Given the description of an element on the screen output the (x, y) to click on. 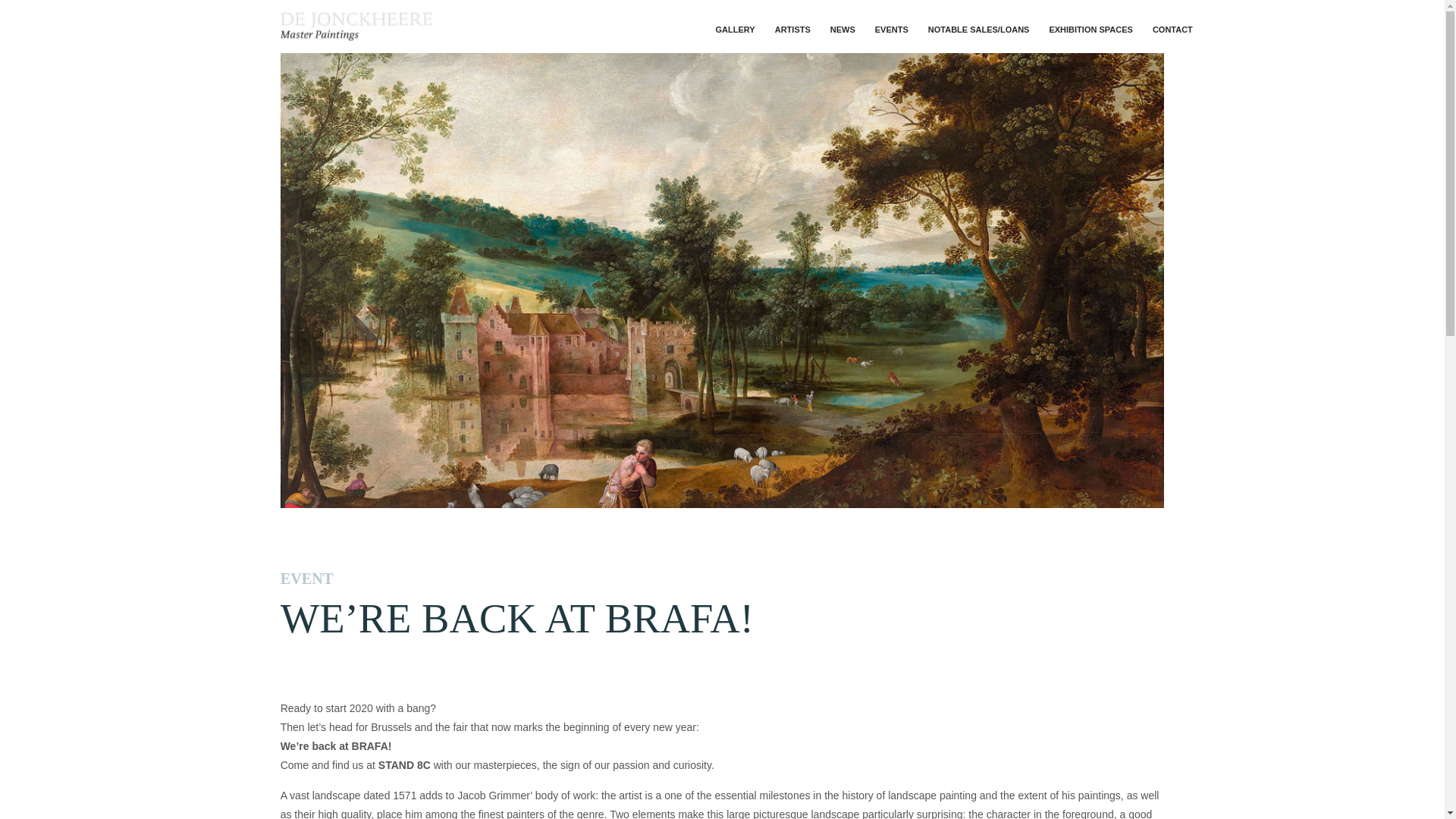
NEWS (842, 29)
GALLERY (735, 29)
ARTISTS (793, 29)
EVENTS (891, 29)
EXHIBITION SPACES (1090, 29)
CONTACT (1167, 29)
